Given the description of an element on the screen output the (x, y) to click on. 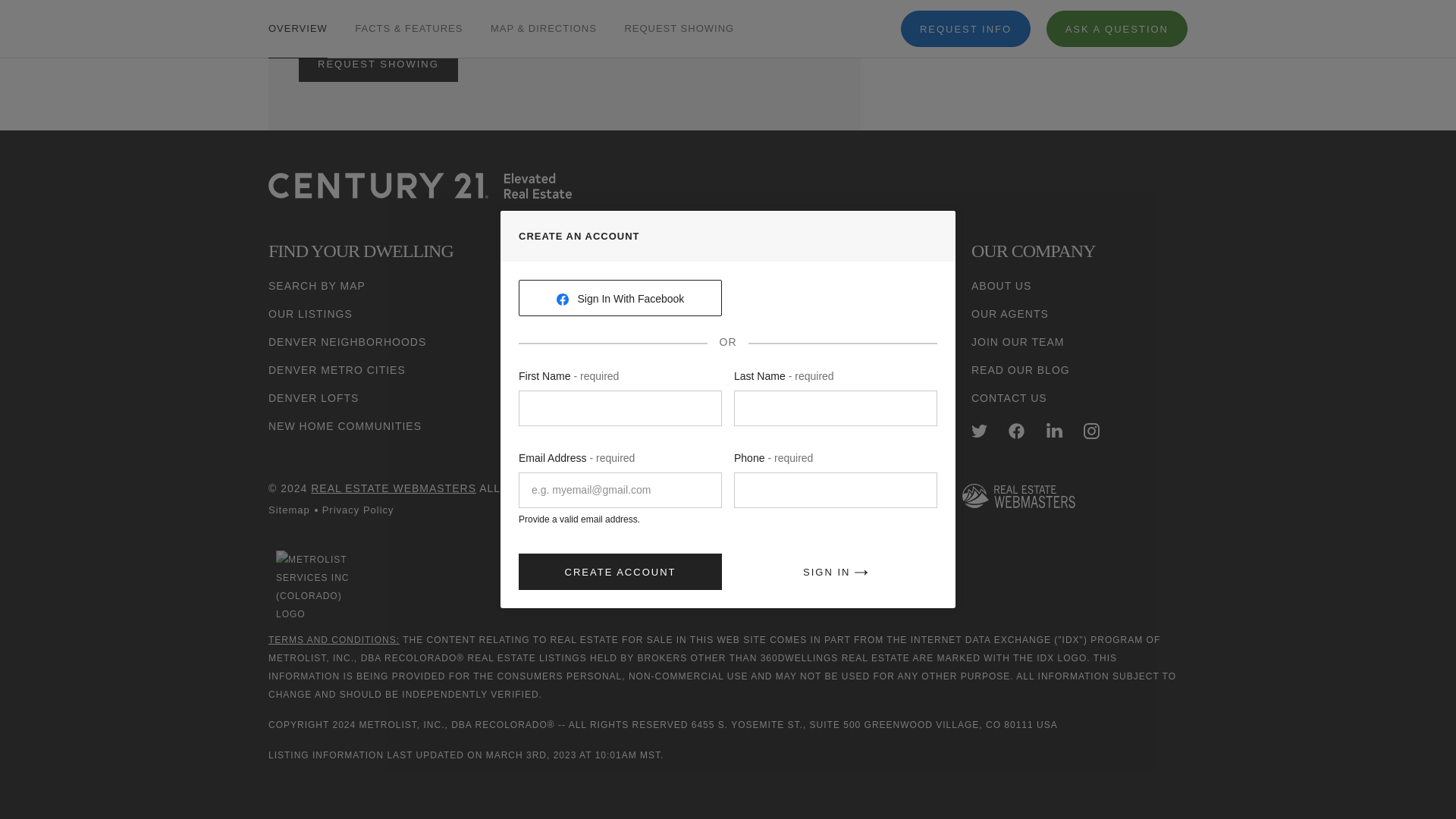
FACEBOOK (1017, 430)
LINKEDIN (1054, 430)
TWITTER (979, 430)
